Given the description of an element on the screen output the (x, y) to click on. 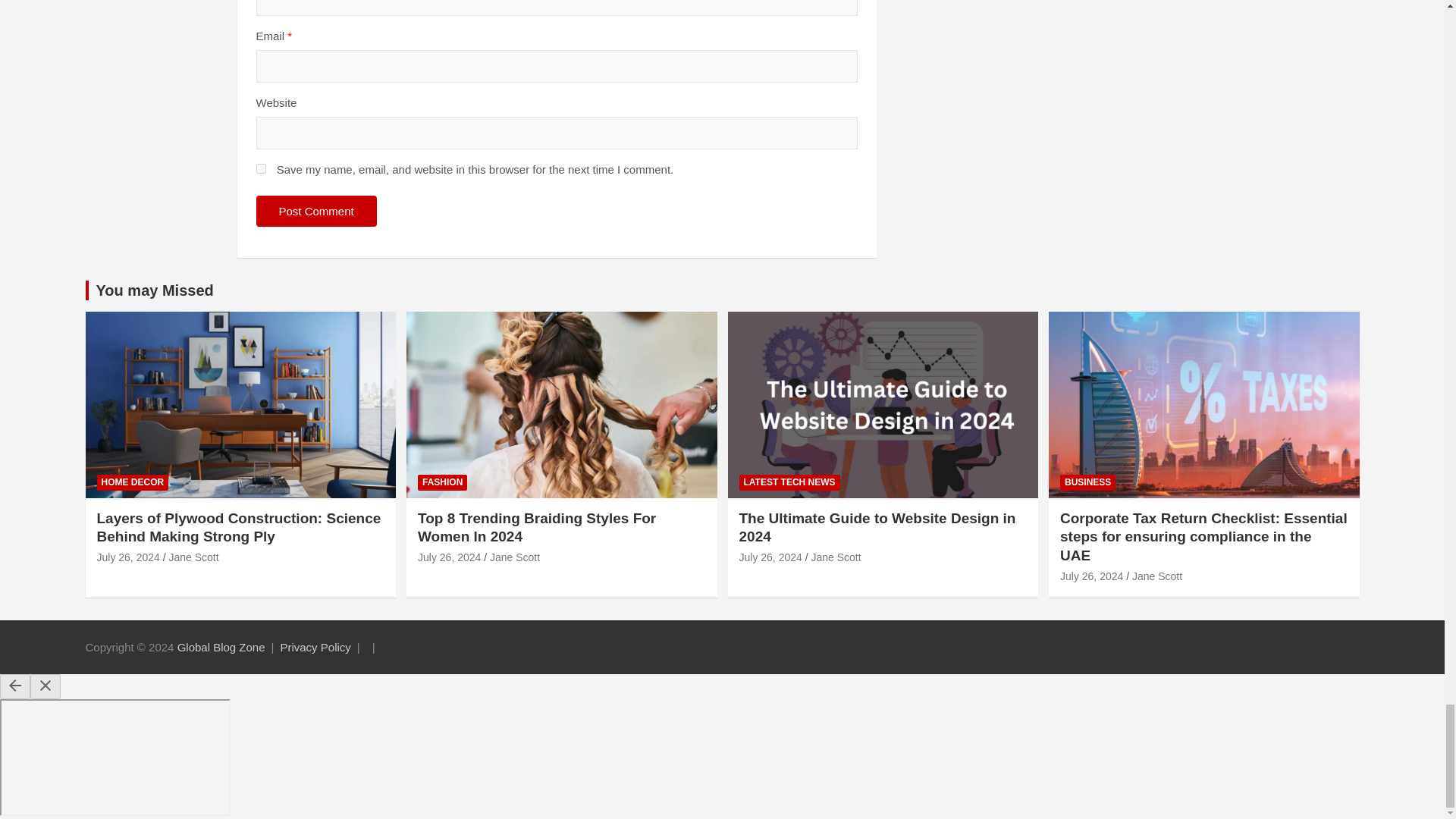
yes (261, 168)
Top 8 Trending Braiding Styles For Women In 2024 (448, 557)
Post Comment (316, 210)
